Given the description of an element on the screen output the (x, y) to click on. 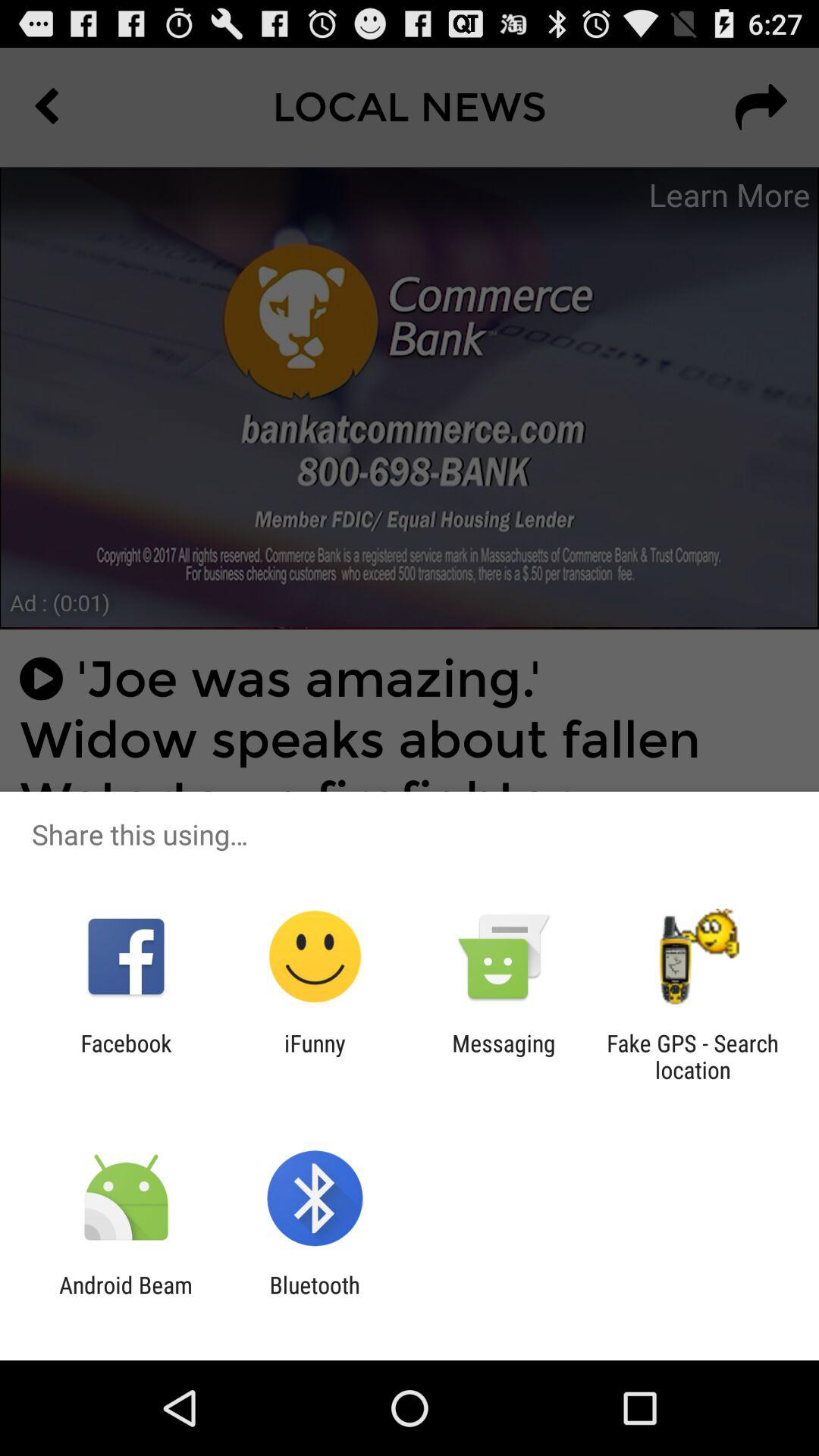
jump to the messaging (503, 1056)
